Given the description of an element on the screen output the (x, y) to click on. 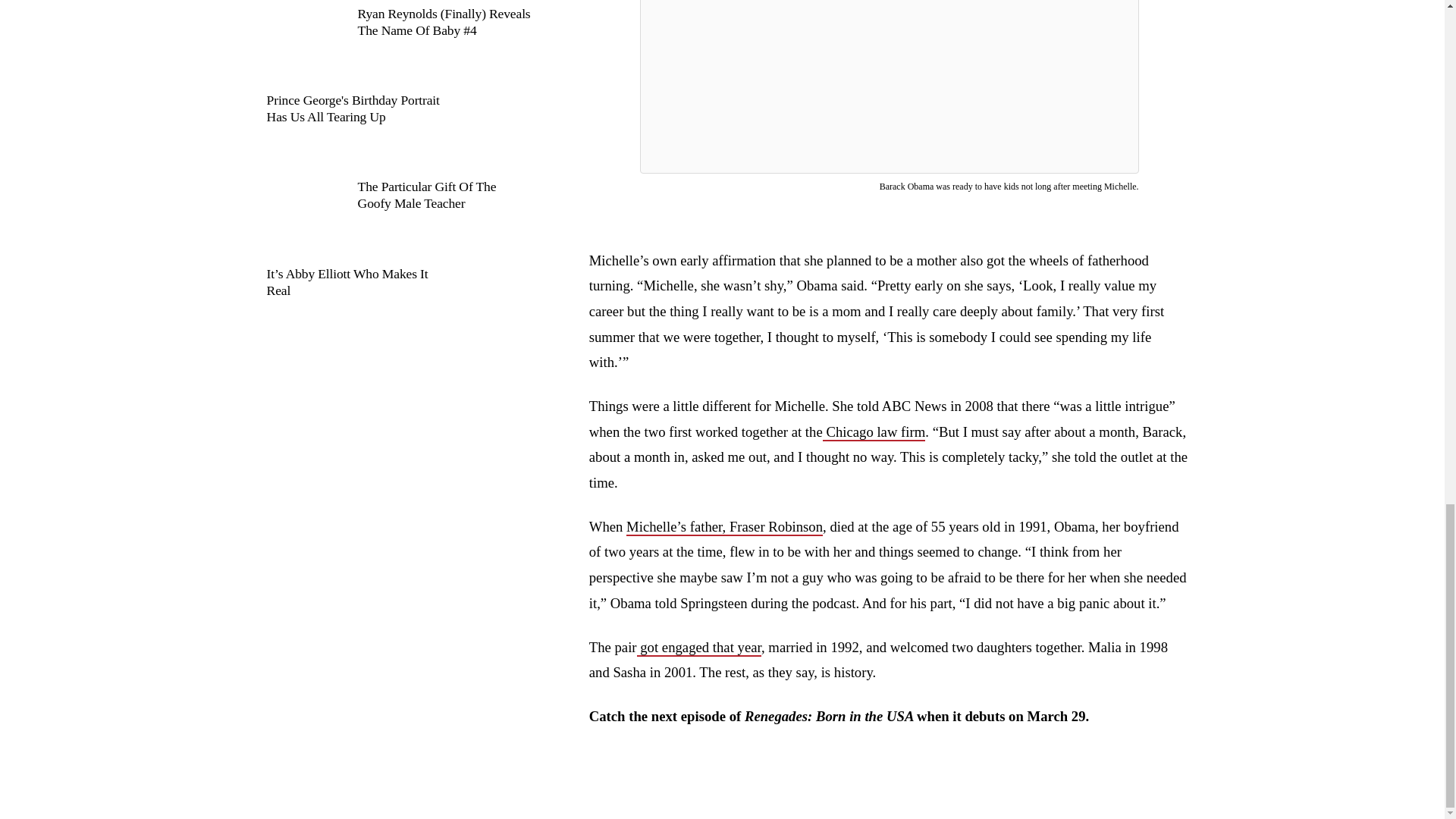
The Particular Gift Of The Goofy Male Teacher (399, 213)
got engaged that year (699, 647)
Prince George's Birthday Portrait Has Us All Tearing Up (399, 126)
Chicago law firm (874, 432)
View on Instagram (888, 1)
